Given the description of an element on the screen output the (x, y) to click on. 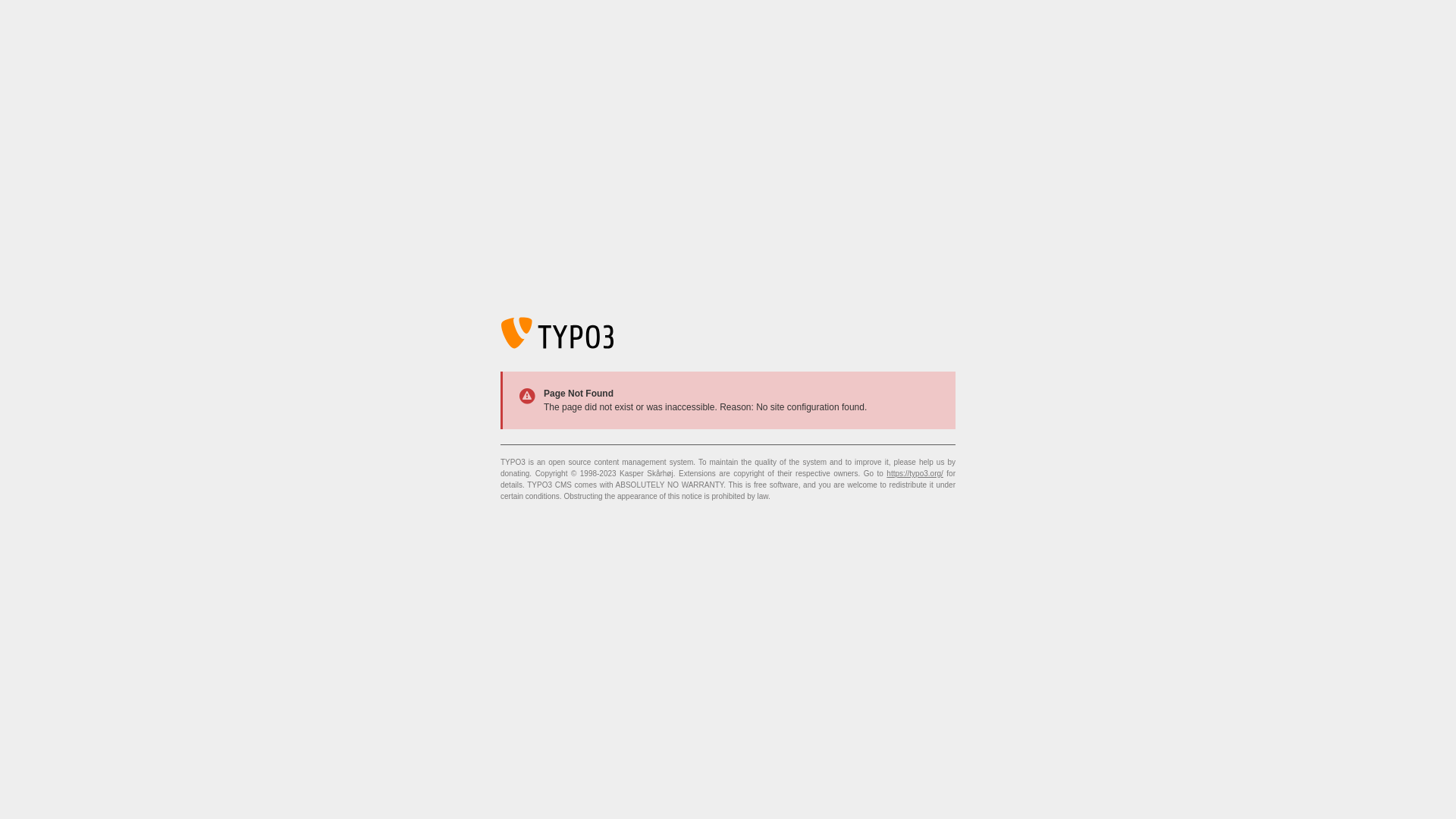
https://typo3.org/ Element type: text (914, 473)
